Given the description of an element on the screen output the (x, y) to click on. 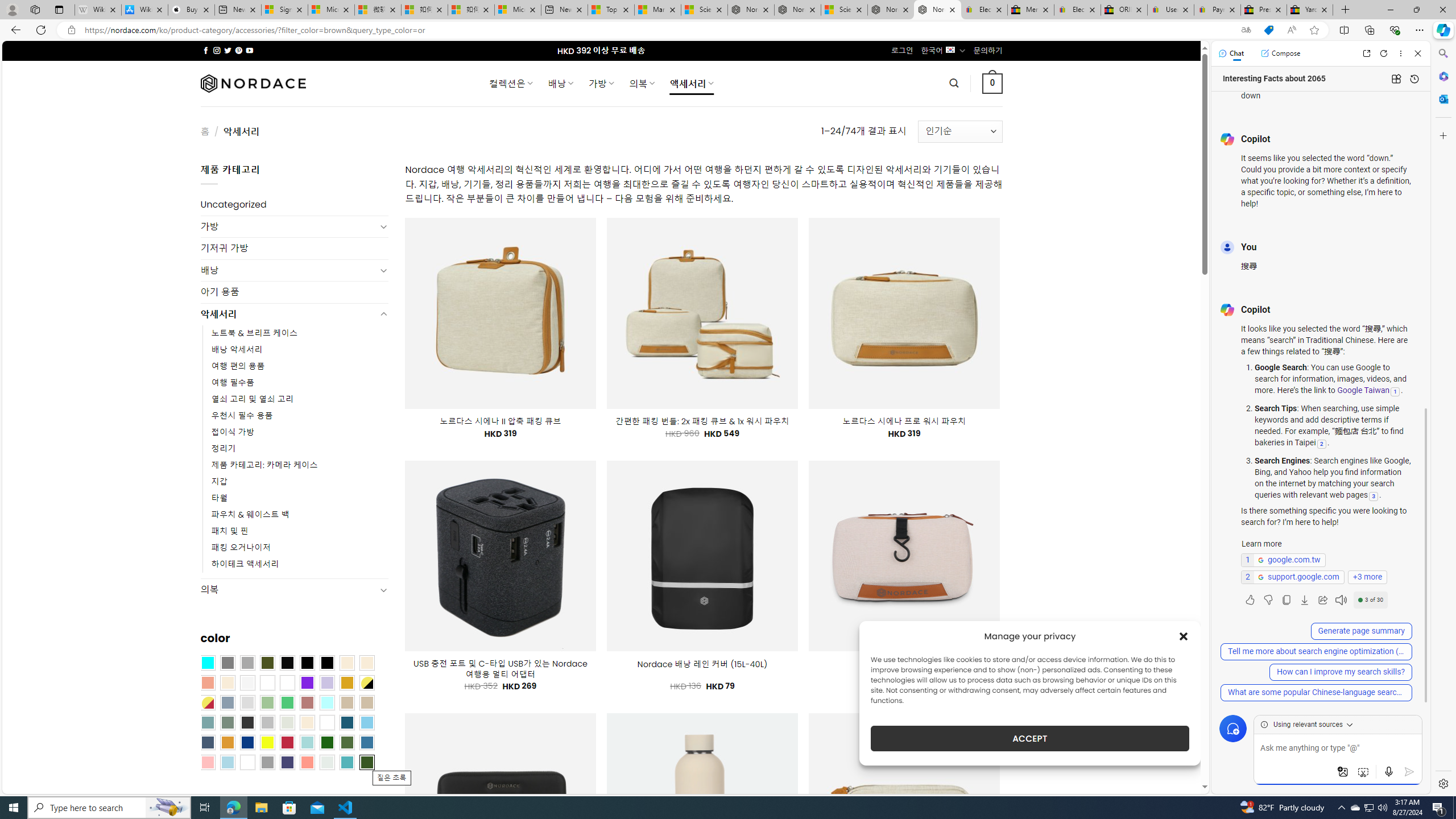
Yard, Garden & Outdoor Living (1309, 9)
Cream (226, 681)
 0  (992, 83)
